Given the description of an element on the screen output the (x, y) to click on. 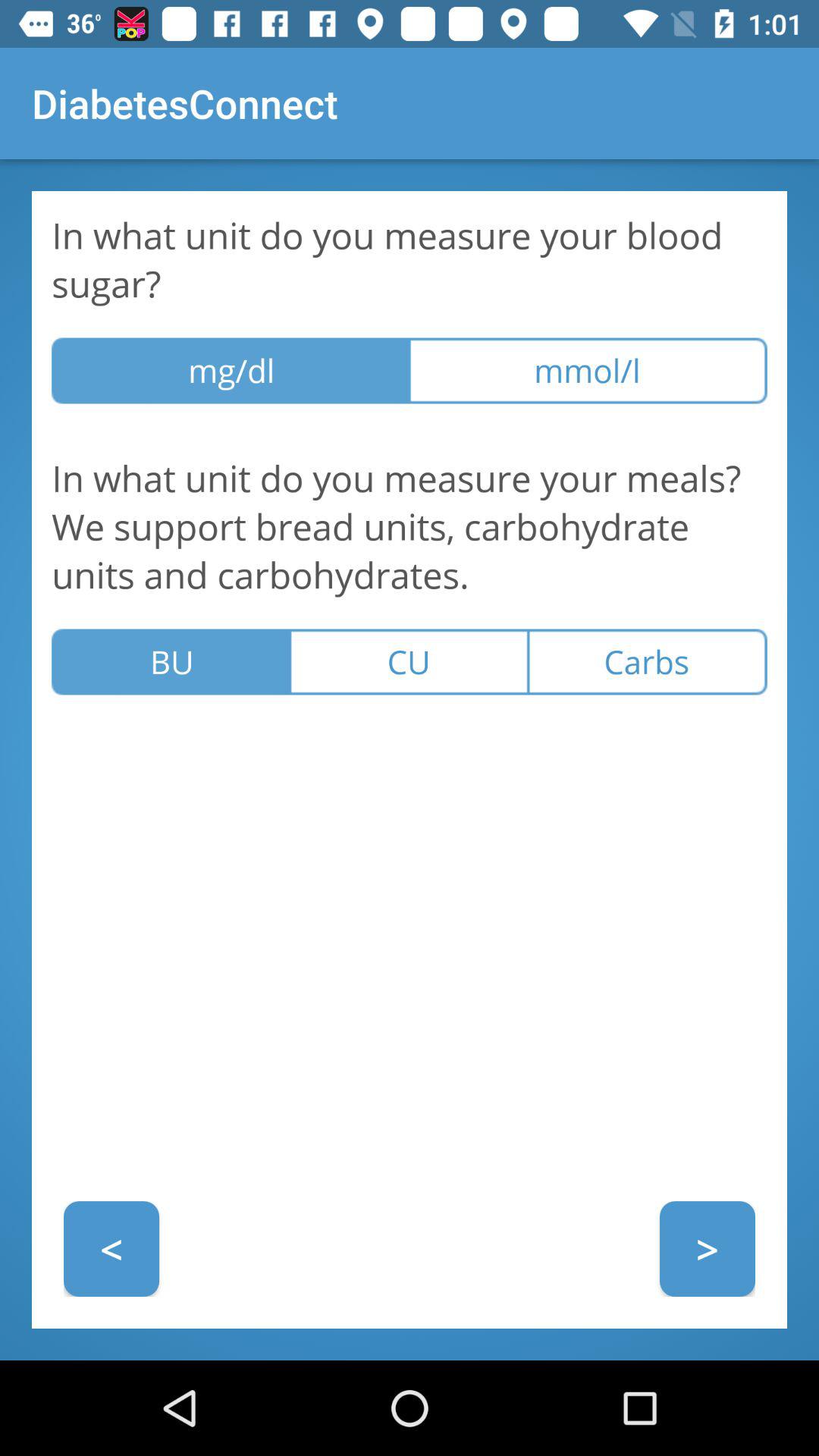
tap the item next to the carbs item (409, 662)
